Given the description of an element on the screen output the (x, y) to click on. 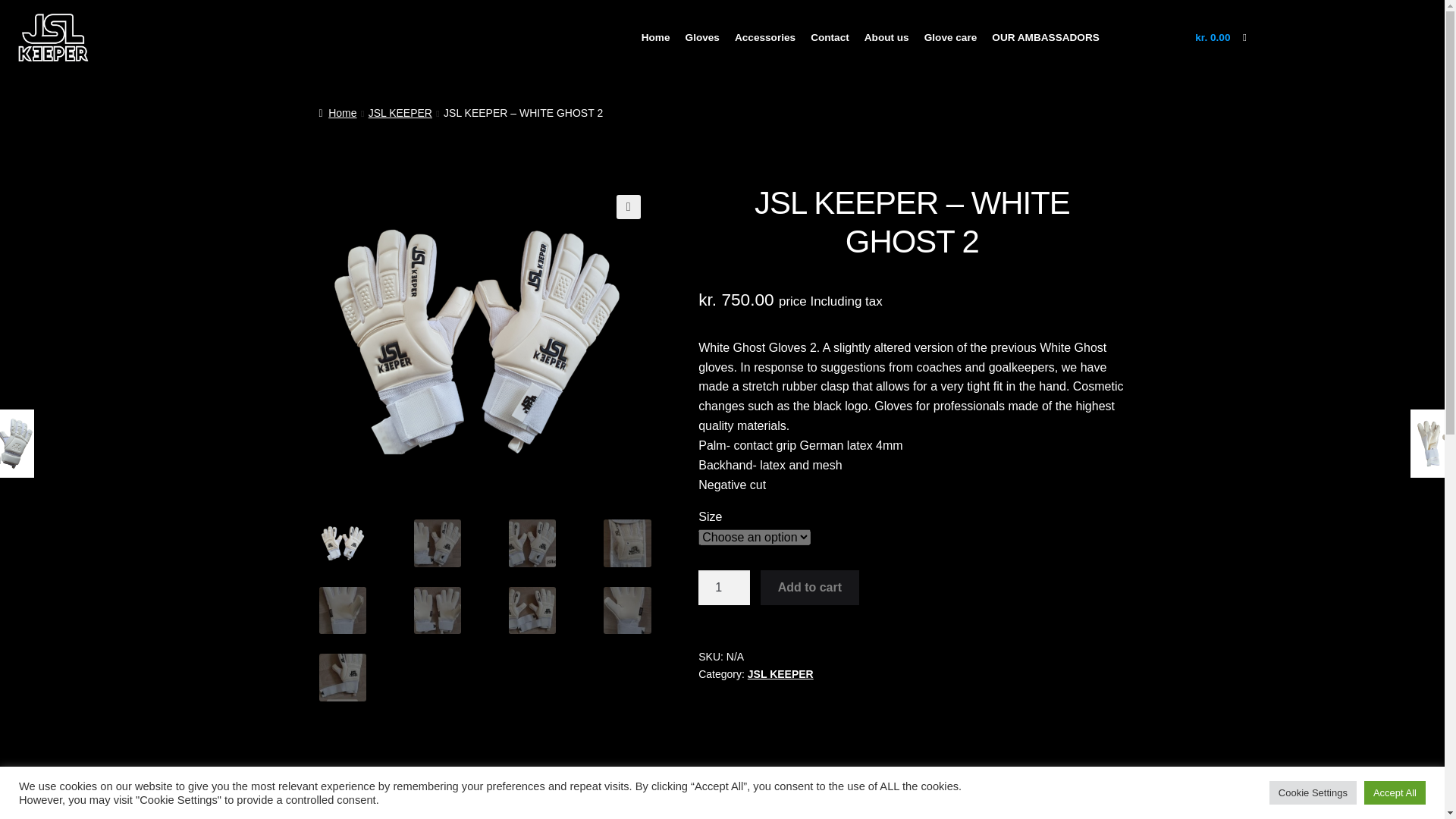
Add to cart (809, 587)
JSL KEEPER (400, 112)
Home (337, 112)
JSL KEEPER (780, 674)
Contact (829, 37)
Qty (723, 587)
About us (887, 37)
Description (437, 808)
1 (723, 587)
View your shopping cart (1193, 37)
Accessories (765, 37)
Gloves (702, 37)
Glove care (950, 37)
kr. 0.00 (1193, 37)
